Given the description of an element on the screen output the (x, y) to click on. 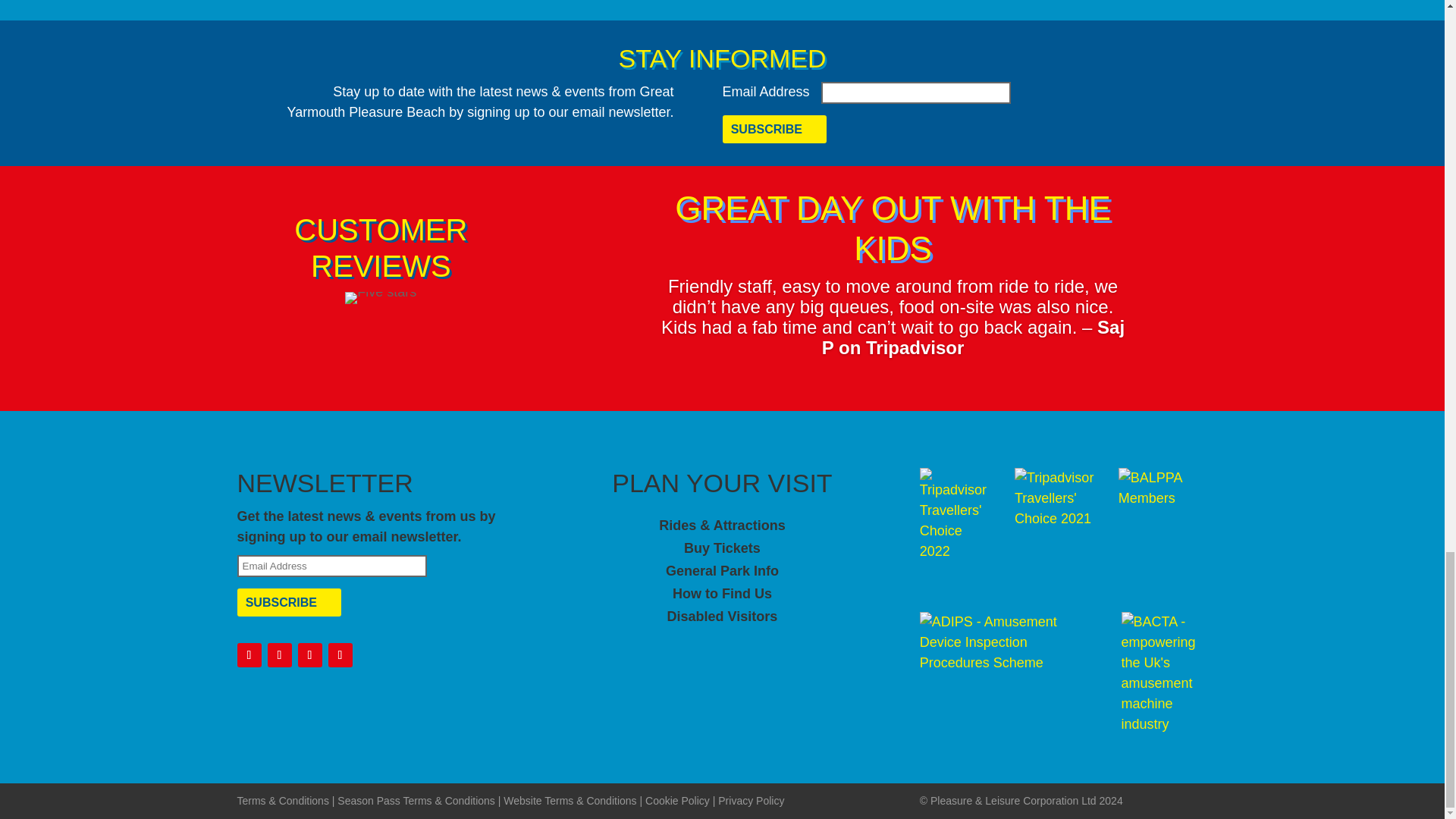
Subscribe (287, 602)
Follow on Youtube (339, 654)
Follow on X (278, 654)
Follow on Instagram (309, 654)
Follow on Facebook (247, 654)
Subscribe (773, 129)
five-stars (380, 297)
